Given the description of an element on the screen output the (x, y) to click on. 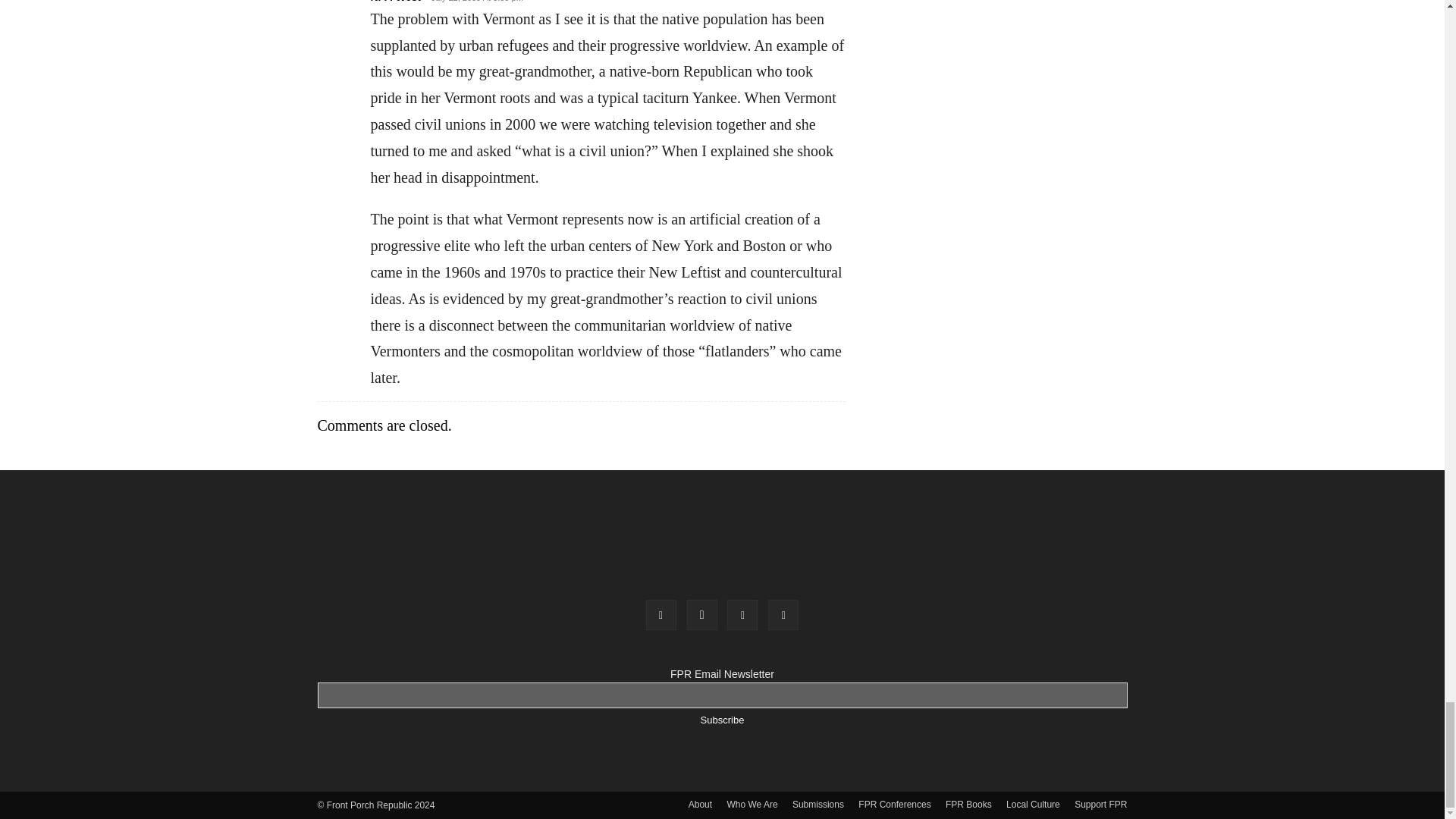
Subscribe (721, 720)
